Given the description of an element on the screen output the (x, y) to click on. 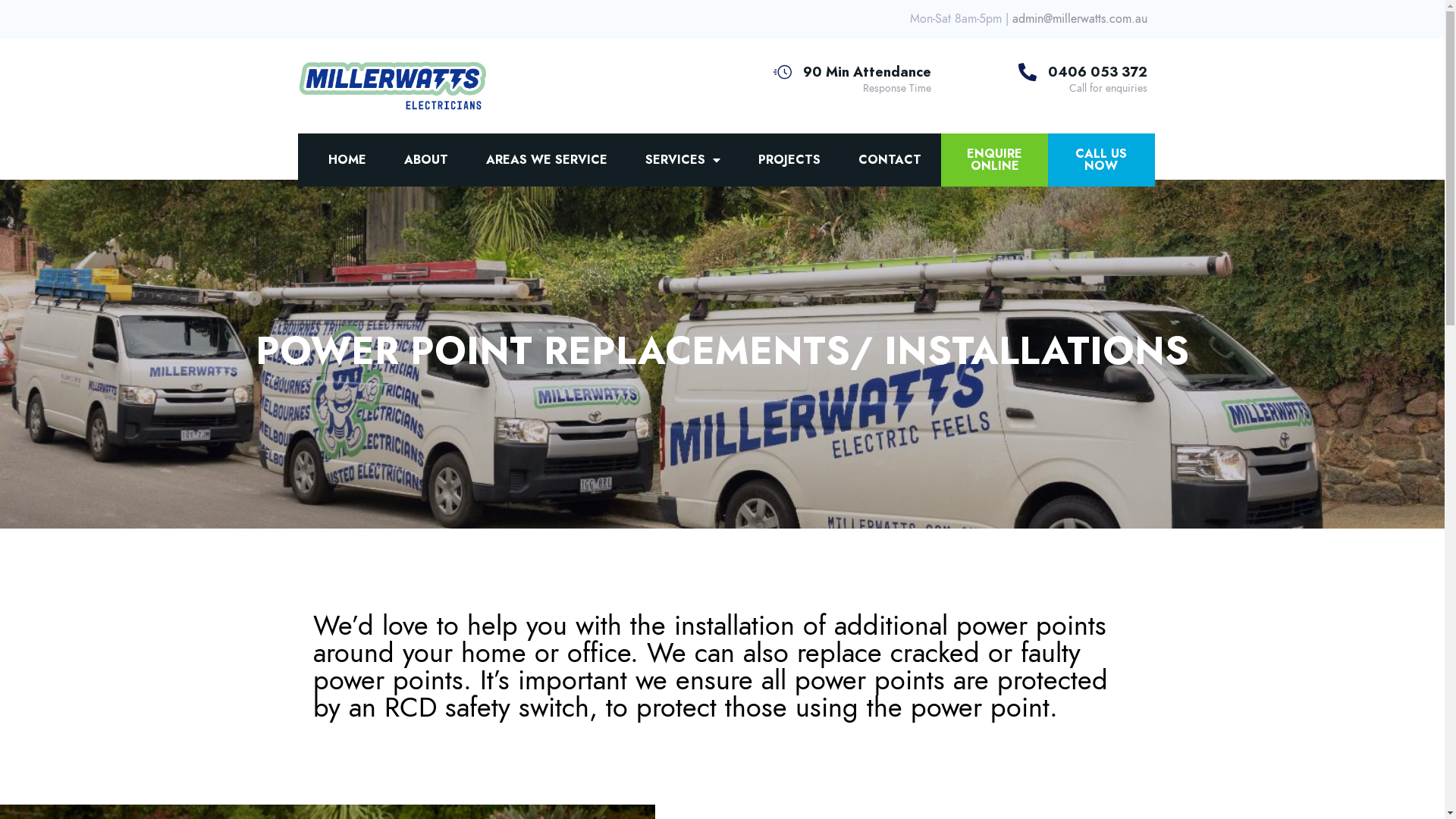
ENQUIRE ONLINE Element type: text (994, 159)
ABOUT Element type: text (425, 159)
HOME Element type: text (346, 159)
PROJECTS Element type: text (789, 159)
admin@millerwatts.com.au Element type: text (1078, 18)
SERVICES Element type: text (681, 159)
CALL US NOW Element type: text (1101, 159)
CONTACT Element type: text (889, 159)
AREAS WE SERVICE Element type: text (545, 159)
